Given the description of an element on the screen output the (x, y) to click on. 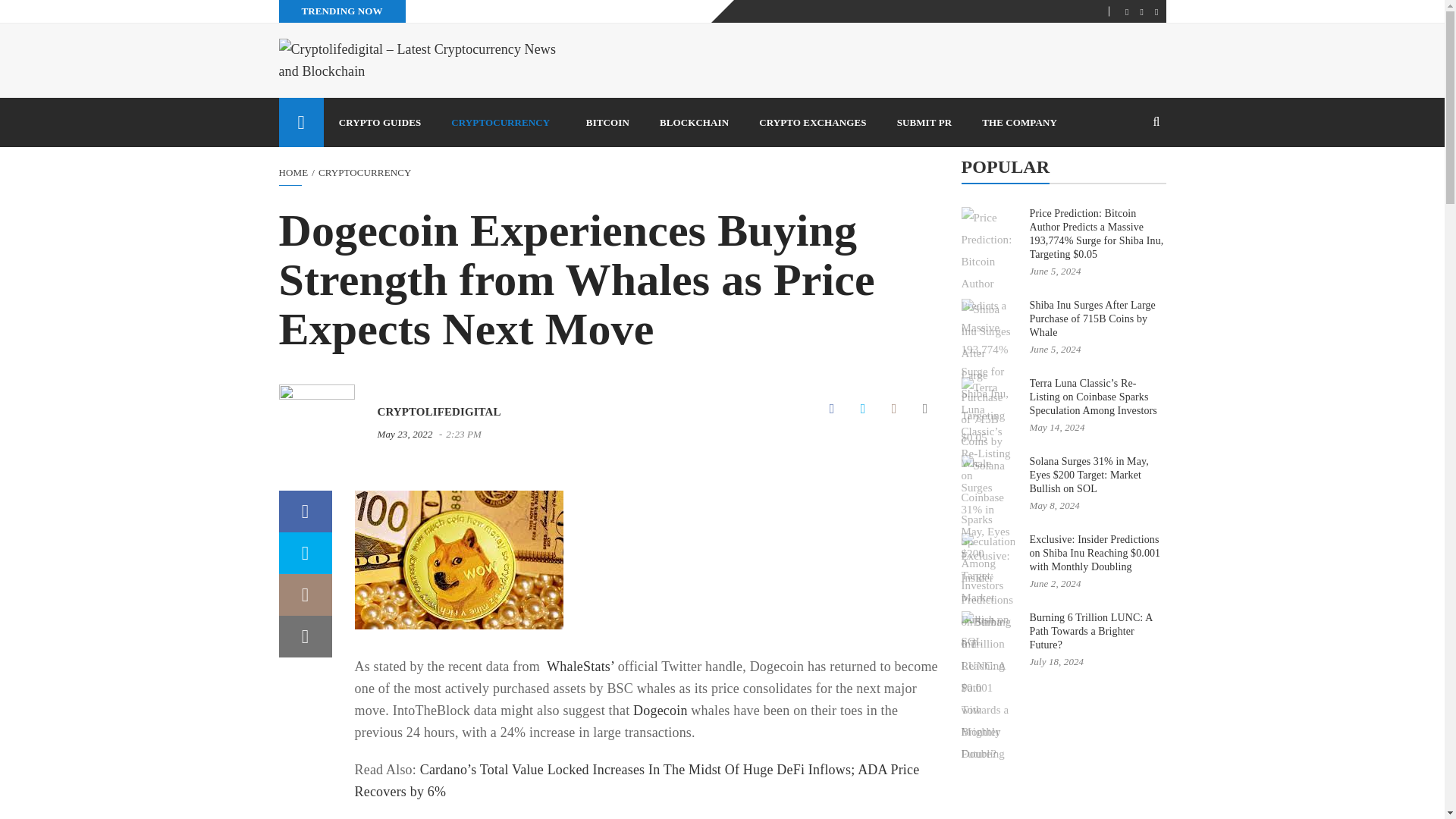
Twitter (862, 408)
Facebook (831, 408)
Cryptocurrency (365, 172)
Comment (893, 408)
Home (293, 172)
Home (301, 122)
